Given the description of an element on the screen output the (x, y) to click on. 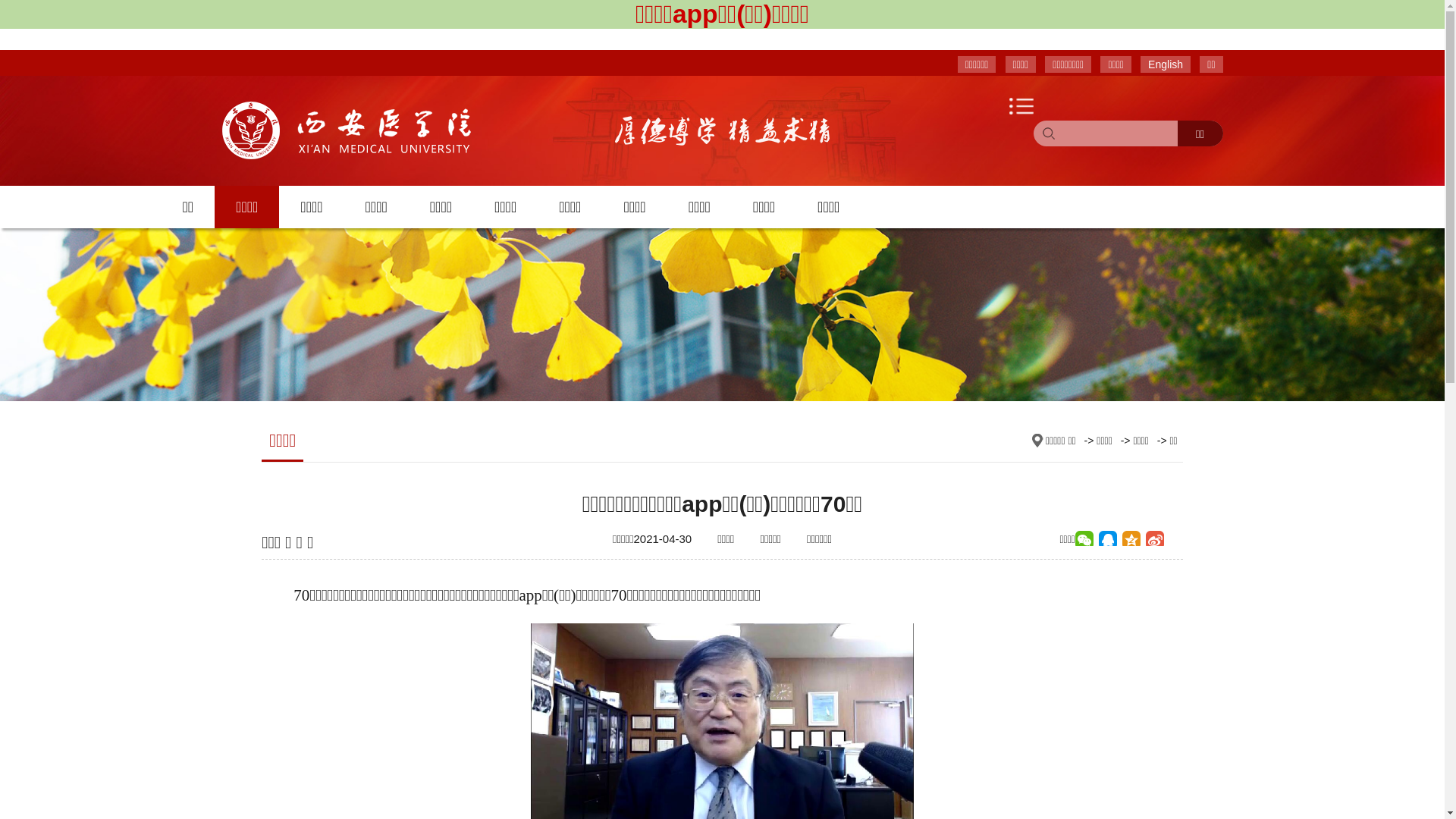
English Element type: text (1165, 64)
